Given the description of an element on the screen output the (x, y) to click on. 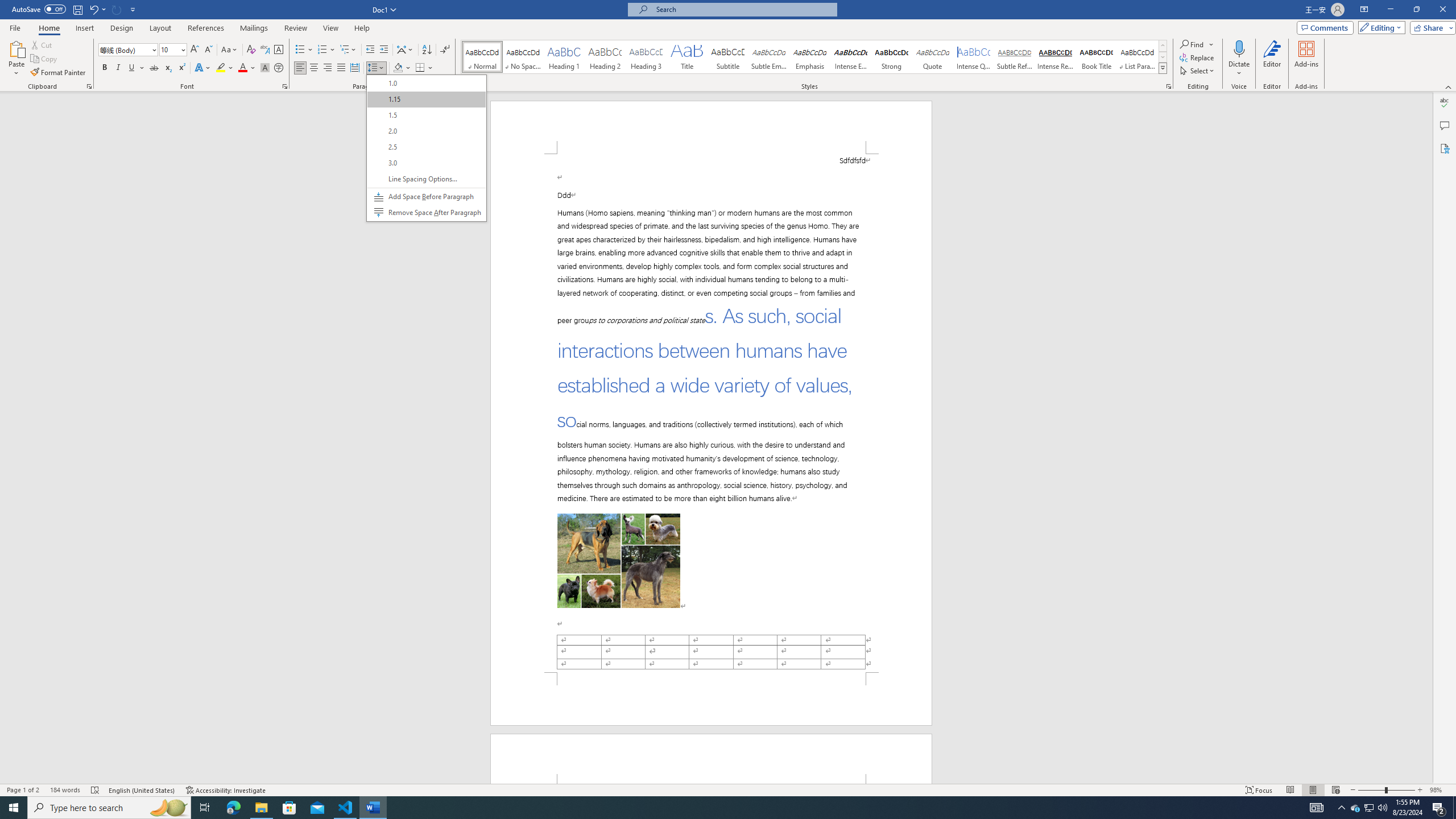
Row Down (1162, 56)
Zoom (1386, 790)
Accessibility Checker Accessibility: Investigate (226, 790)
Row up (1162, 45)
Header -Section 1- (710, 758)
Text Highlight Color (224, 67)
Subtitle (727, 56)
Multilevel List (347, 49)
Intense Quote (973, 56)
Word - 1 running window (373, 807)
Task View (204, 807)
